Given the description of an element on the screen output the (x, y) to click on. 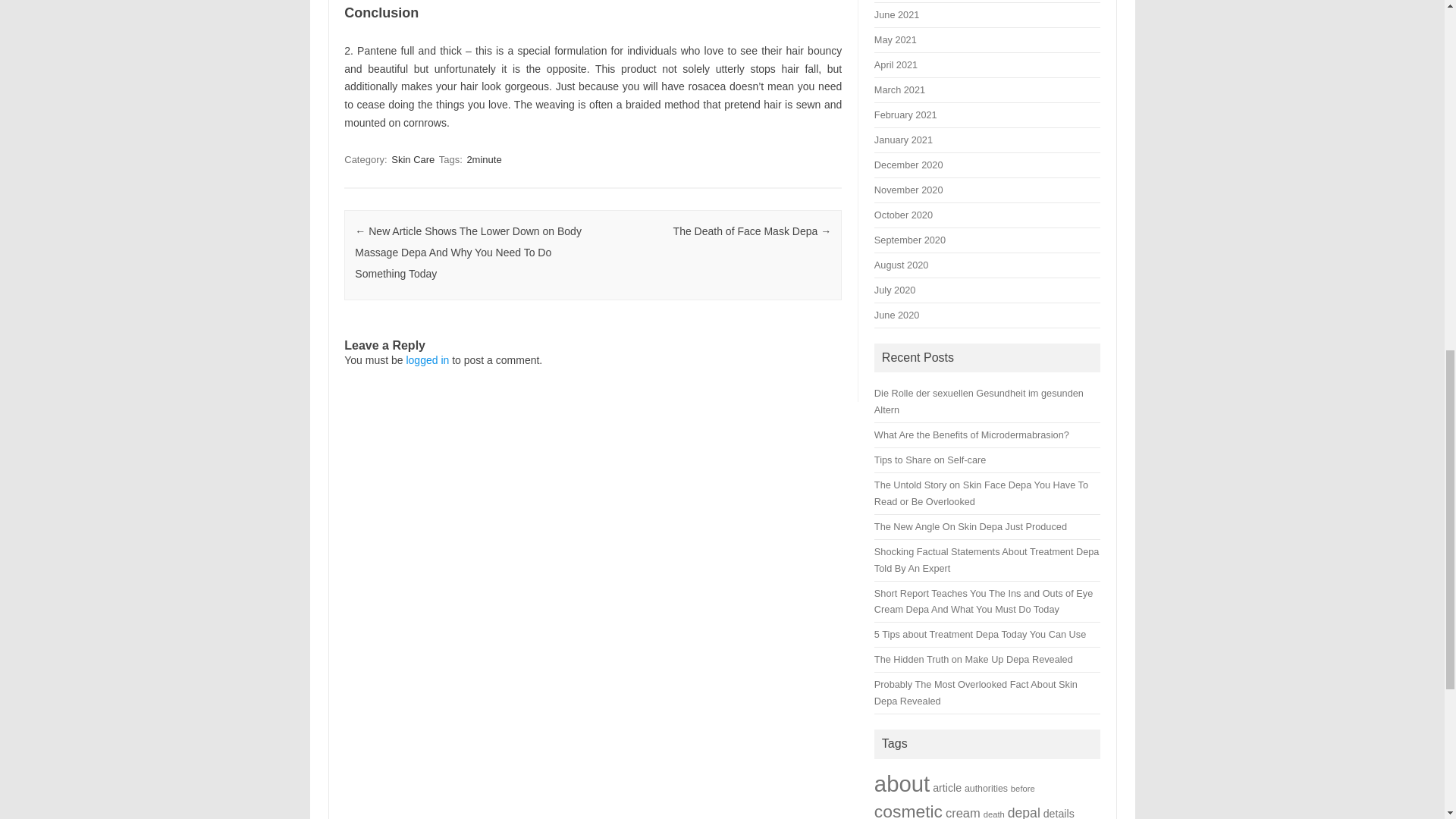
May 2021 (896, 39)
June 2021 (896, 14)
April 2021 (896, 64)
Skin Care (412, 159)
March 2021 (899, 89)
logged in (427, 359)
2minute (483, 159)
